Given the description of an element on the screen output the (x, y) to click on. 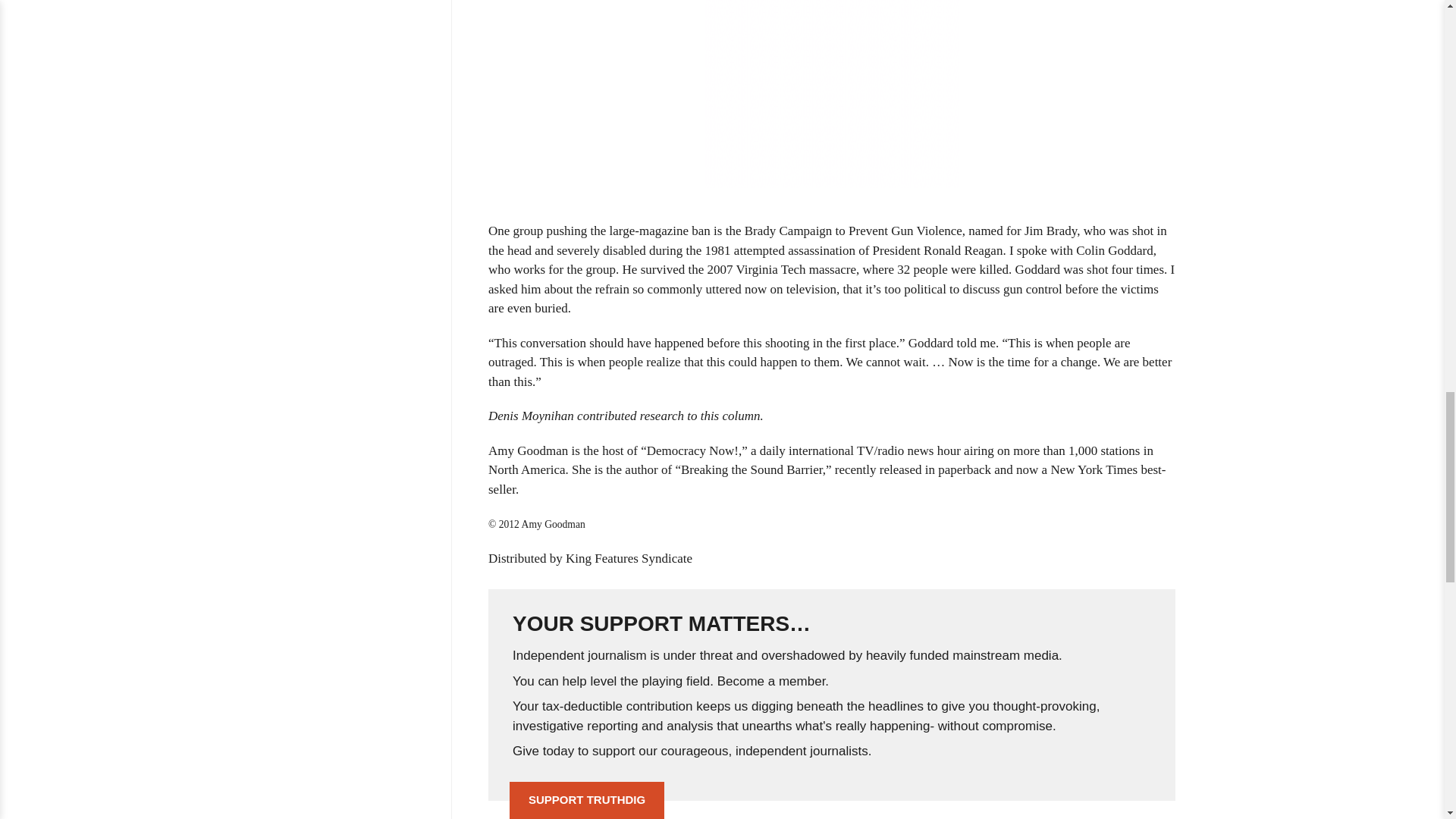
3rd party ad content (831, 94)
